Given the description of an element on the screen output the (x, y) to click on. 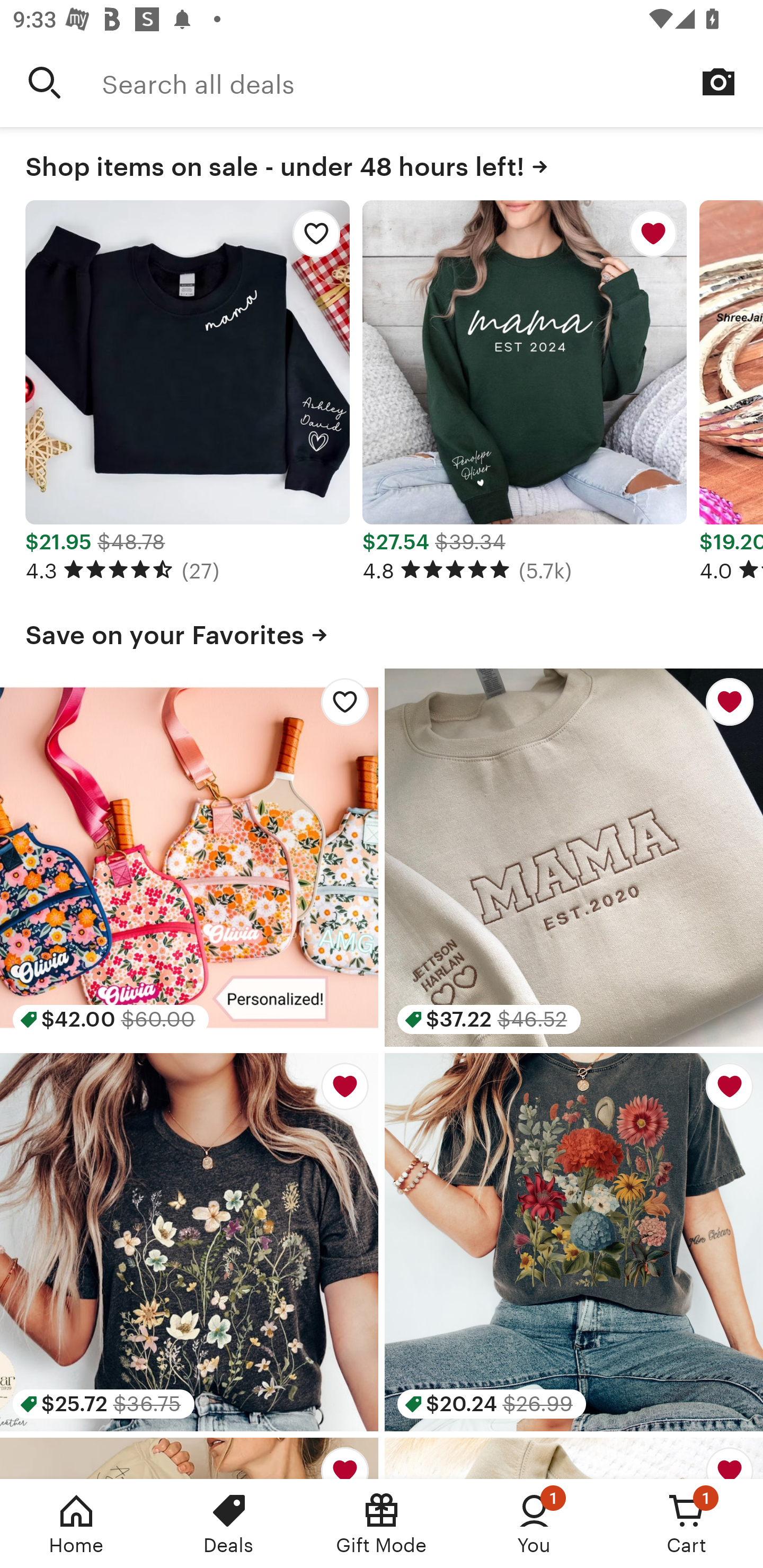
Search for anything on Etsy (44, 82)
Search by image (718, 81)
Search all deals (432, 82)
Shop items on sale - under 48 hours left! (381, 163)
Save on your Favorites (381, 631)
Home (76, 1523)
Gift Mode (381, 1523)
You, 1 new notification You (533, 1523)
Cart, 1 new notification Cart (686, 1523)
